Given the description of an element on the screen output the (x, y) to click on. 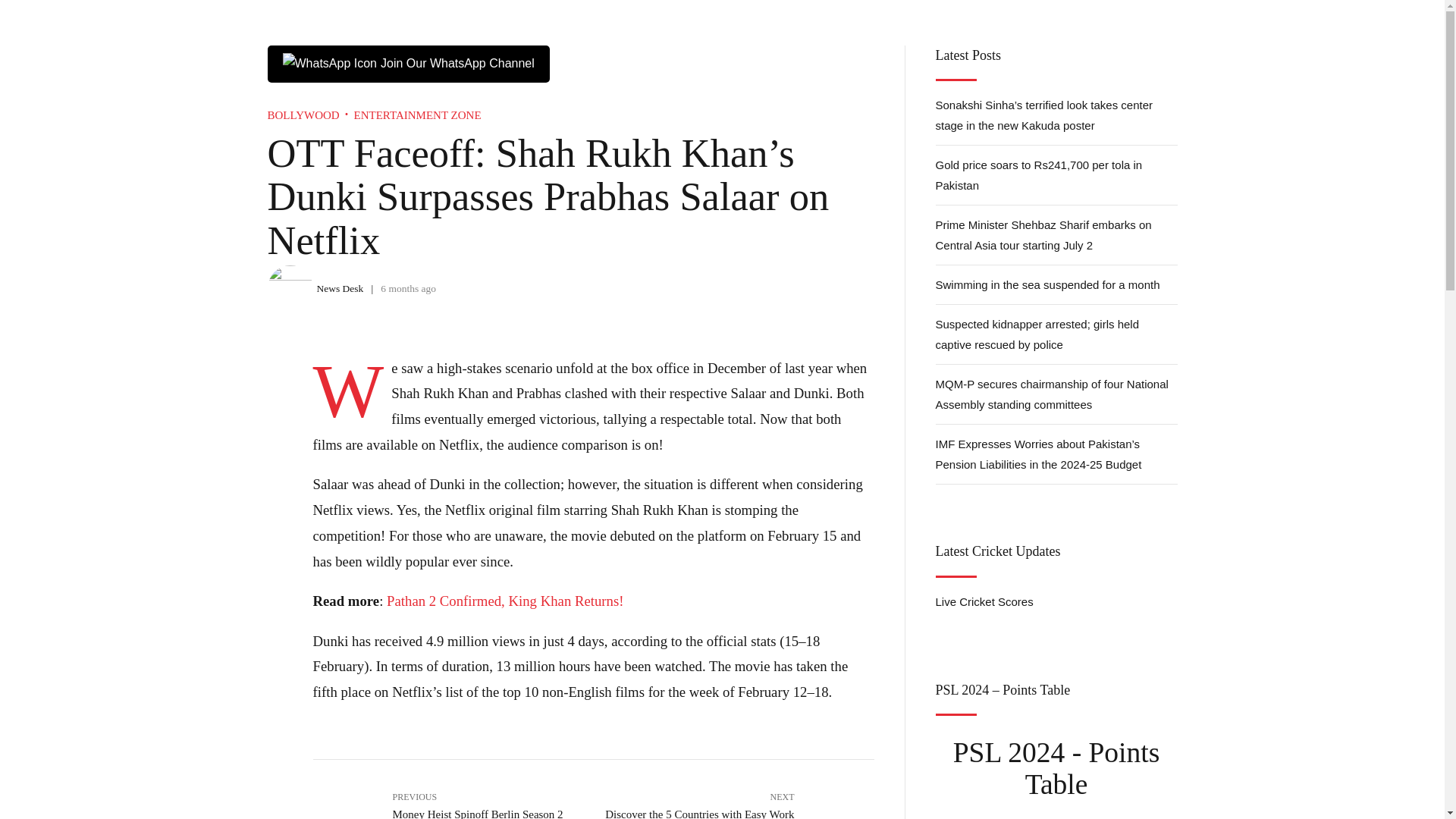
Pathan 2 Confirmed, King Khan Returns! (505, 600)
BOLLYWOOD (302, 114)
Join Our WhatsApp Channel (407, 63)
Live Cricket Scores (984, 601)
News Desk (732, 800)
